Given the description of an element on the screen output the (x, y) to click on. 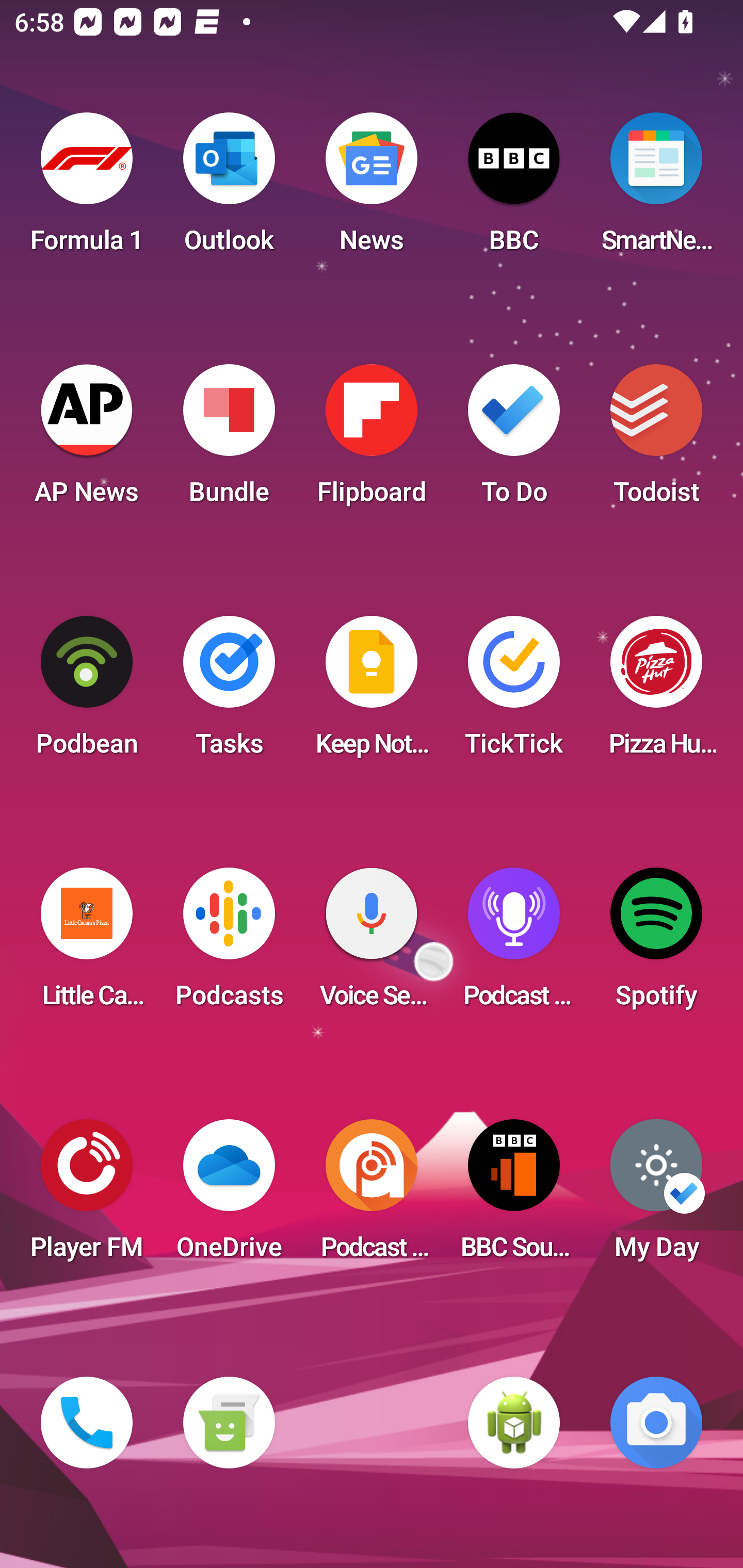
Formula 1 (86, 188)
Outlook (228, 188)
News (371, 188)
BBC (513, 188)
SmartNews (656, 188)
AP News (86, 440)
Bundle (228, 440)
Flipboard (371, 440)
To Do (513, 440)
Todoist (656, 440)
Podbean (86, 692)
Tasks (228, 692)
Keep Notes (371, 692)
TickTick (513, 692)
Pizza Hut HK & Macau (656, 692)
Little Caesars Pizza (86, 943)
Podcasts (228, 943)
Voice Search (371, 943)
Podcast Player (513, 943)
Spotify (656, 943)
Player FM (86, 1195)
OneDrive (228, 1195)
Podcast Addict (371, 1195)
BBC Sounds (513, 1195)
My Day (656, 1195)
Phone (86, 1422)
Messaging (228, 1422)
WebView Browser Tester (513, 1422)
Camera (656, 1422)
